Given the description of an element on the screen output the (x, y) to click on. 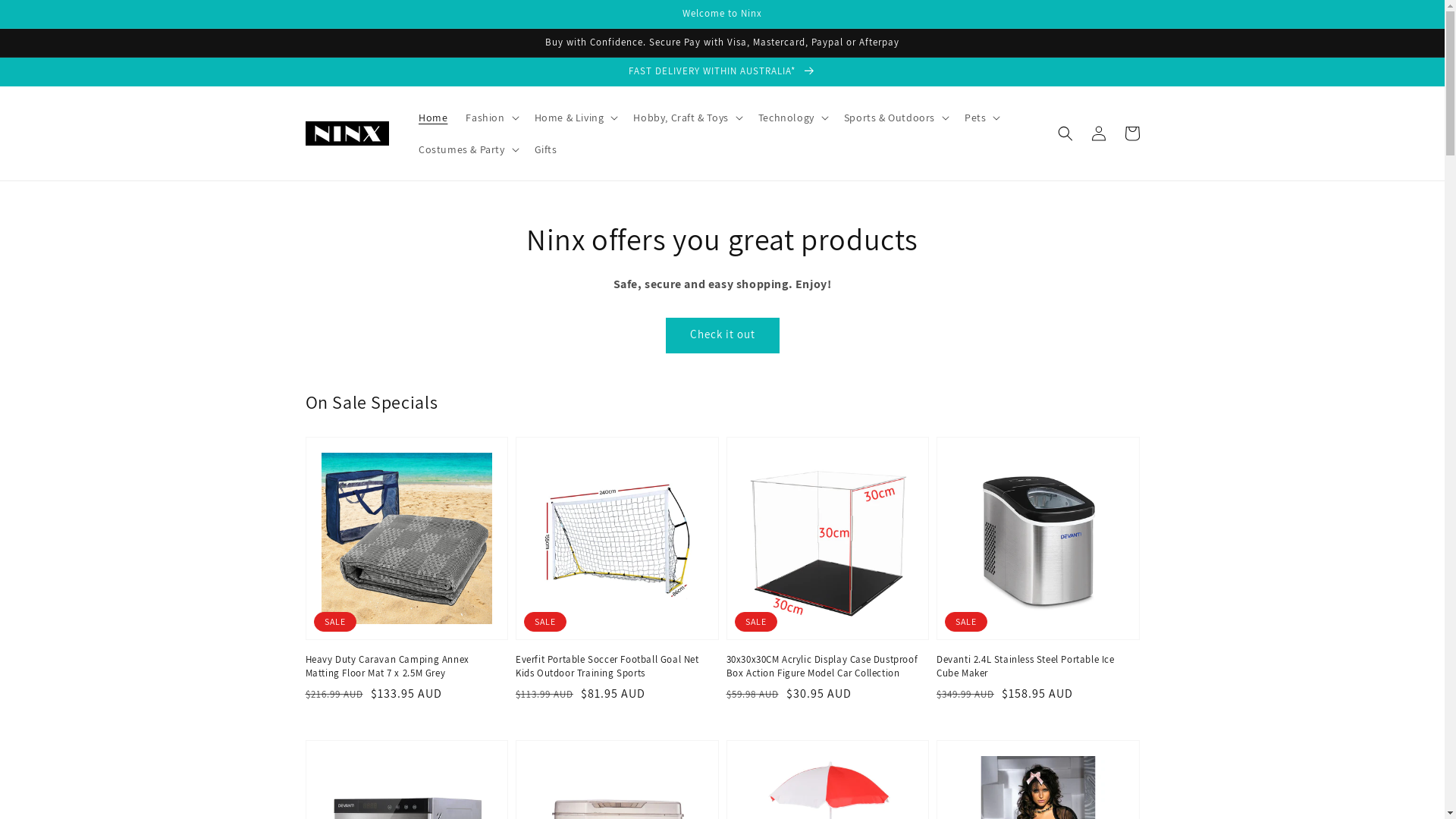
FAST DELIVERY WITHIN AUSTRALIA* Element type: text (722, 71)
My Cart Element type: text (1131, 133)
Log in Element type: text (1097, 133)
Home Element type: text (432, 117)
Devanti 2.4L Stainless Steel Portable Ice Cube Maker Element type: text (1033, 666)
Gifts Element type: text (545, 149)
Check it out Element type: text (721, 335)
